Given the description of an element on the screen output the (x, y) to click on. 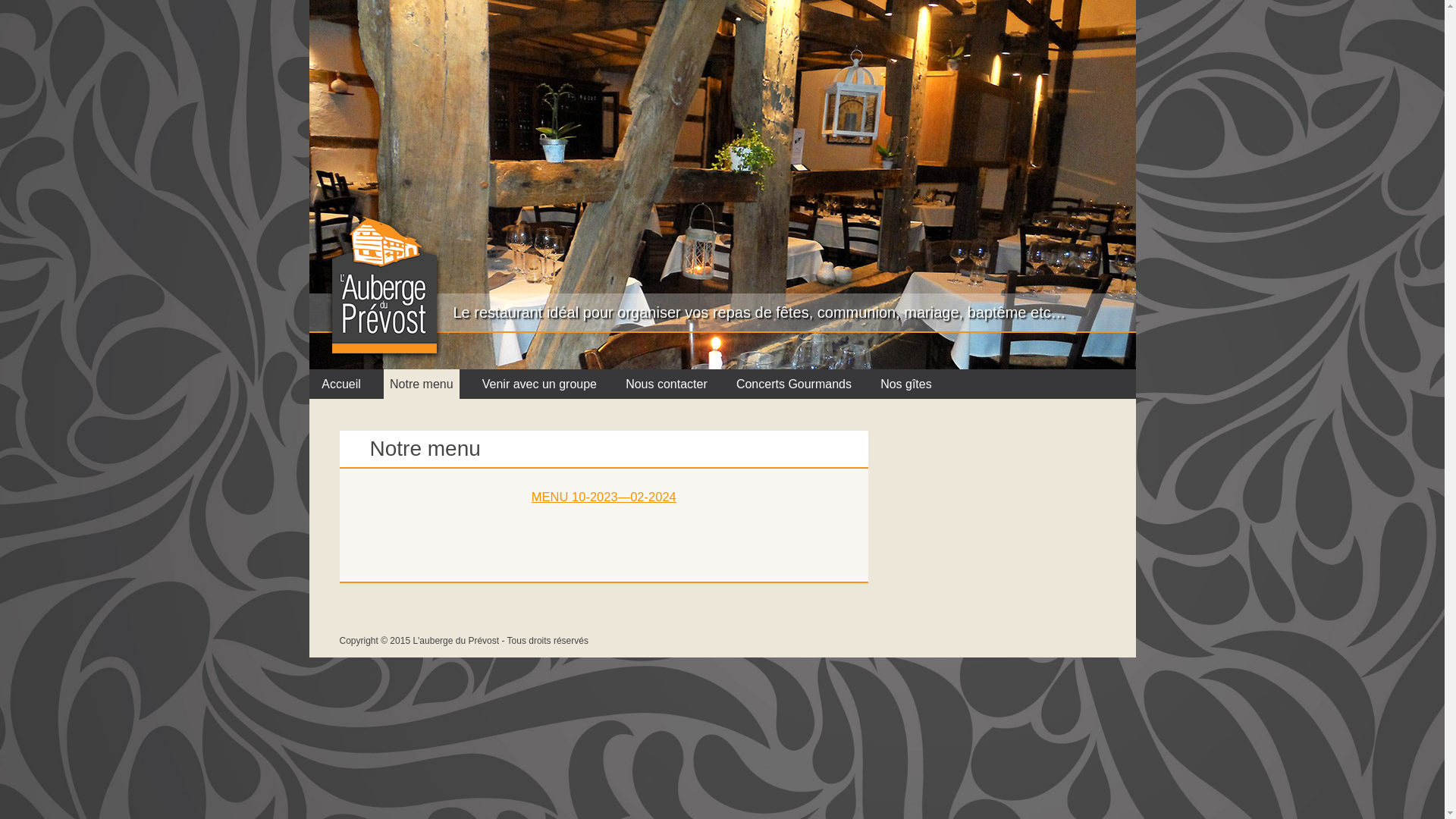
Venir avec un groupe Element type: text (538, 383)
Concerts Gourmands Element type: text (794, 383)
Notre menu Element type: text (421, 383)
Skip to content Element type: text (721, 369)
Accueil Element type: text (341, 383)
Nous contacter Element type: text (666, 383)
